Given the description of an element on the screen output the (x, y) to click on. 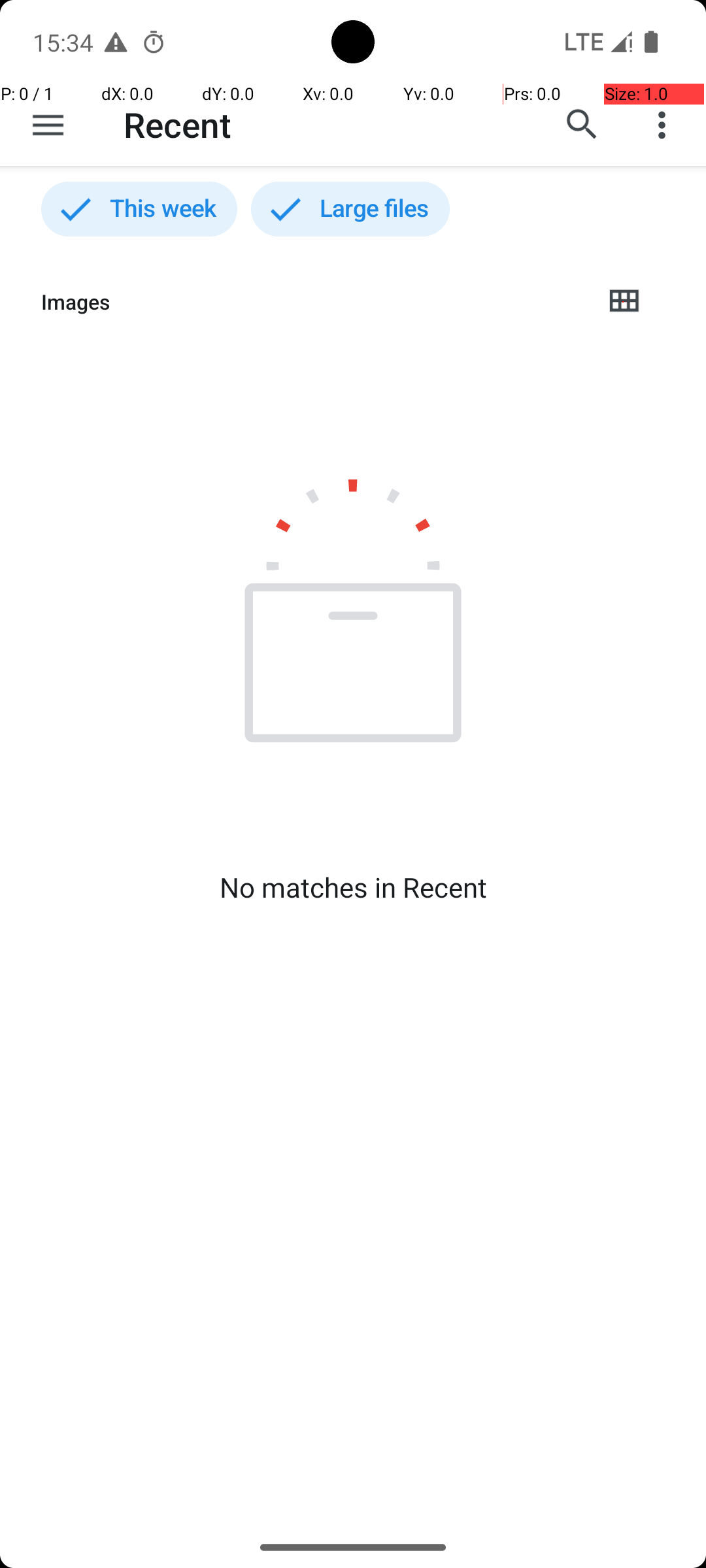
No matches in Recent Element type: android.widget.TextView (353, 886)
